Given the description of an element on the screen output the (x, y) to click on. 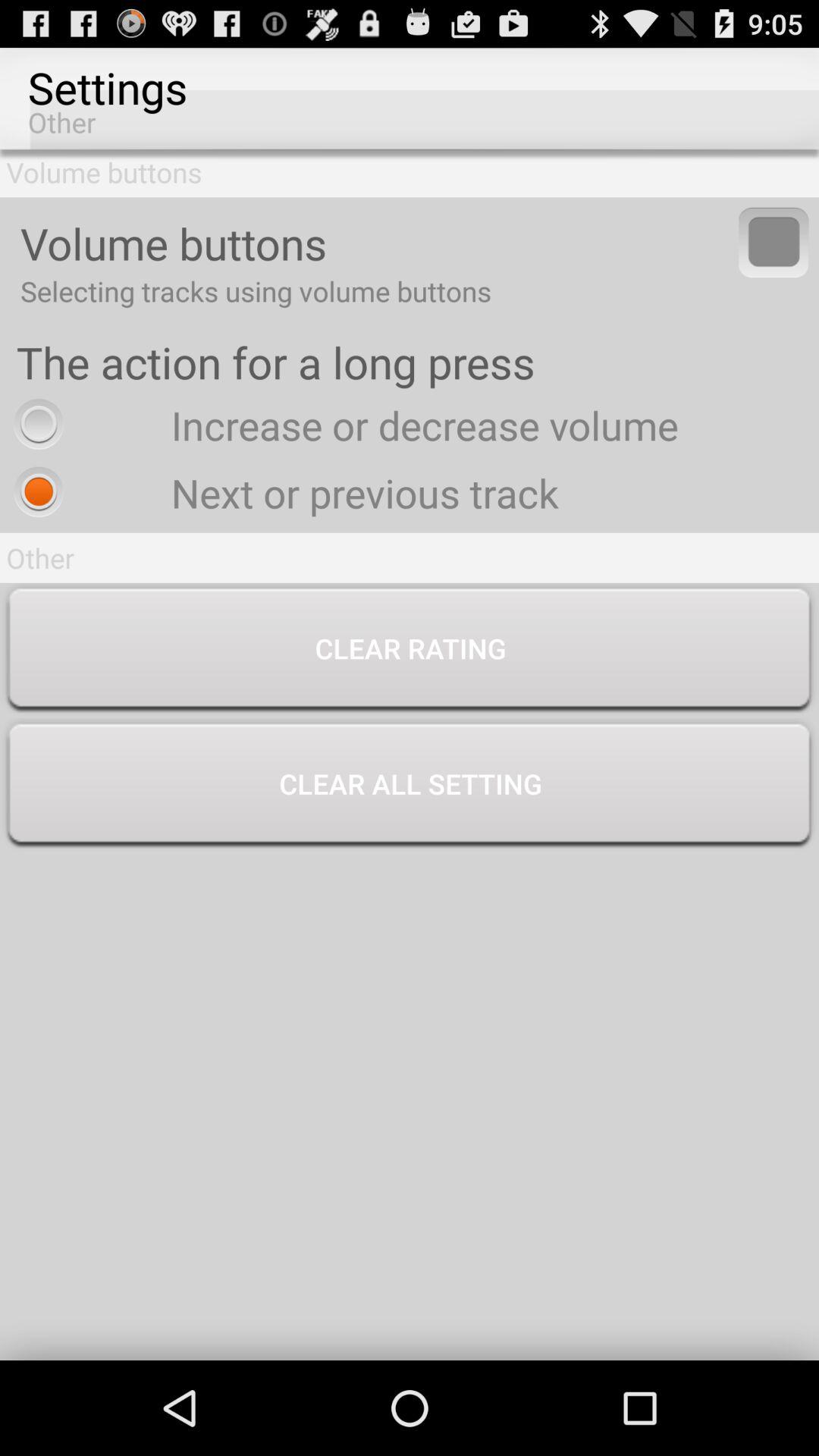
jump to the next or previous item (282, 492)
